Given the description of an element on the screen output the (x, y) to click on. 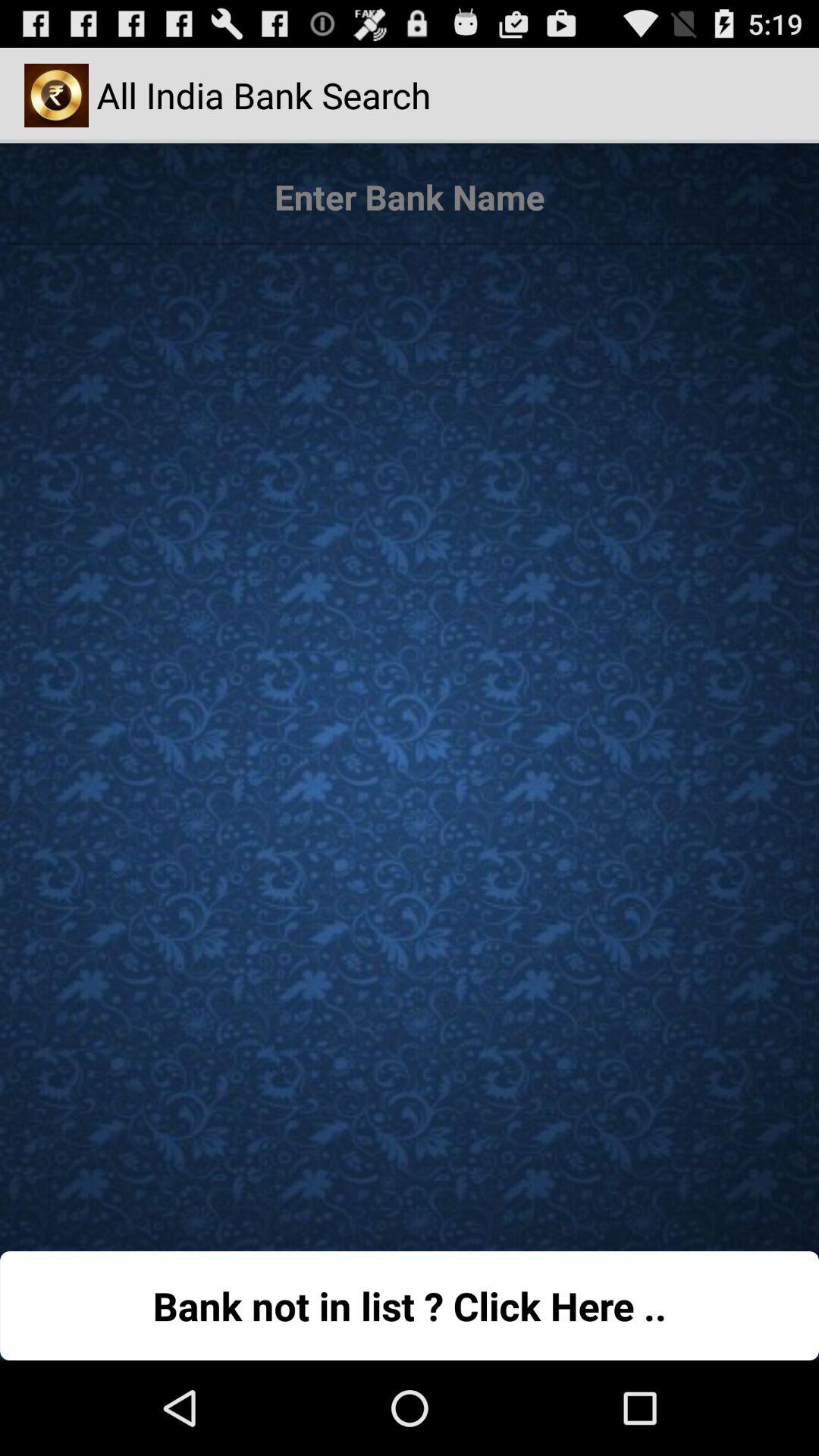
open button at the bottom (409, 1305)
